Given the description of an element on the screen output the (x, y) to click on. 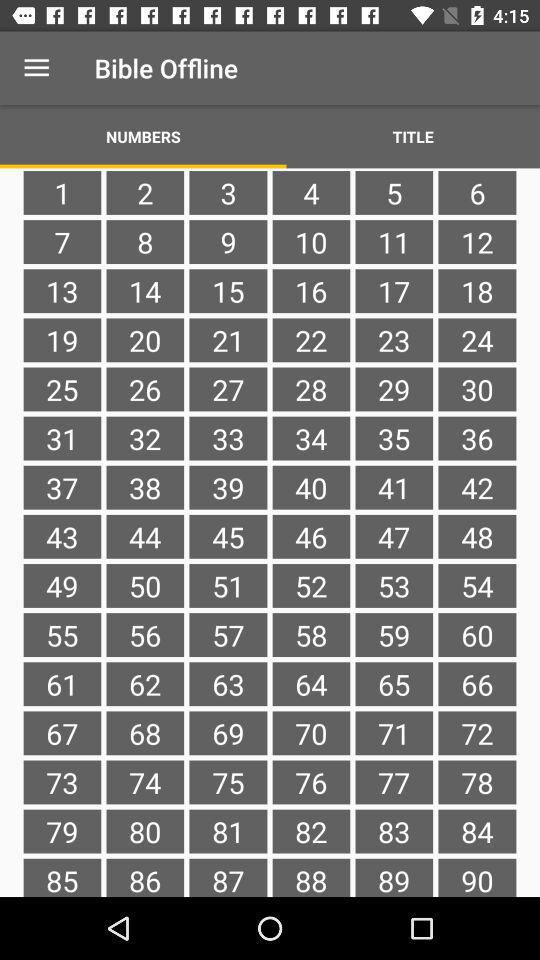
press the item to the left of title (143, 136)
